Given the description of an element on the screen output the (x, y) to click on. 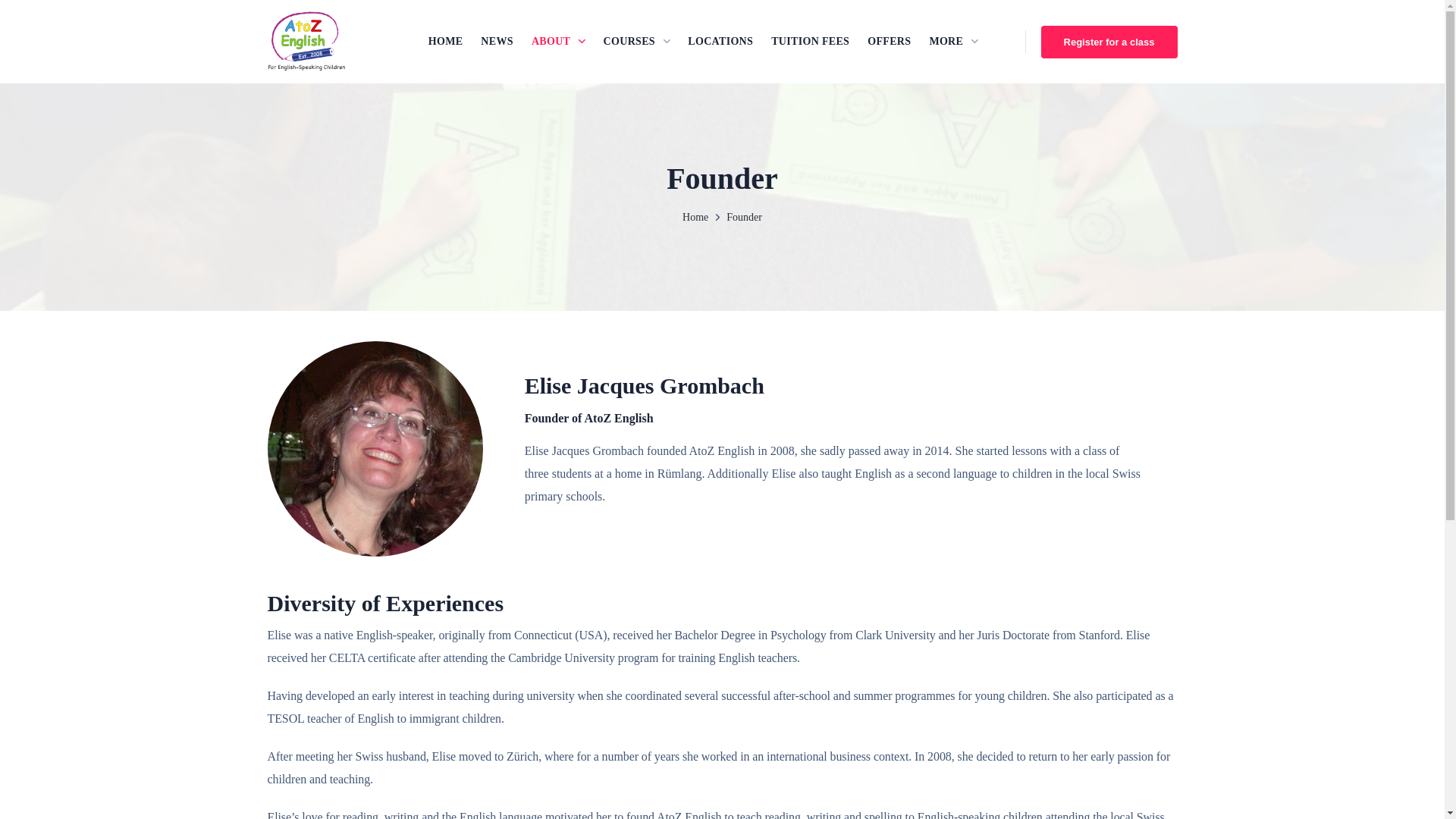
LOCATIONS Element type: text (720, 41)
HOME Element type: text (445, 41)
Register for a class Element type: text (1109, 41)
Home Element type: text (695, 216)
OFFERS Element type: text (888, 41)
COURSES Element type: text (636, 41)
ABOUT Element type: text (558, 41)
NEWS Element type: text (496, 41)
TUITION FEES Element type: text (810, 41)
MORE Element type: text (952, 41)
